Given the description of an element on the screen output the (x, y) to click on. 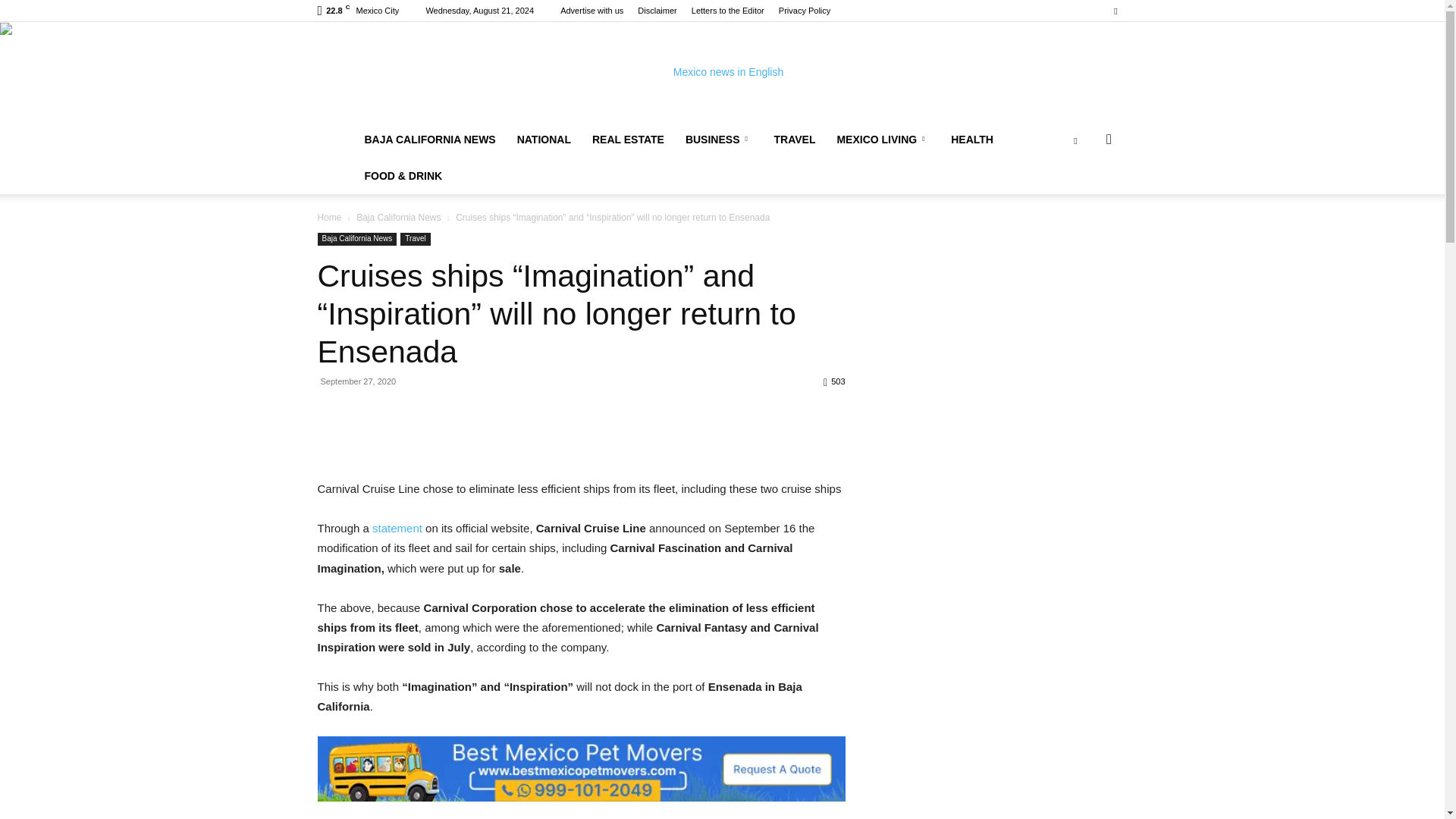
MEXICO LIVING (882, 139)
NATIONAL (543, 139)
Twitter (1114, 10)
HEALTH (972, 139)
Letters to the Editor (727, 10)
View all posts in Baja California News (398, 217)
TRAVEL (793, 139)
BUSINESS (718, 139)
Disclaimer (657, 10)
Advertise with us (591, 10)
